Given the description of an element on the screen output the (x, y) to click on. 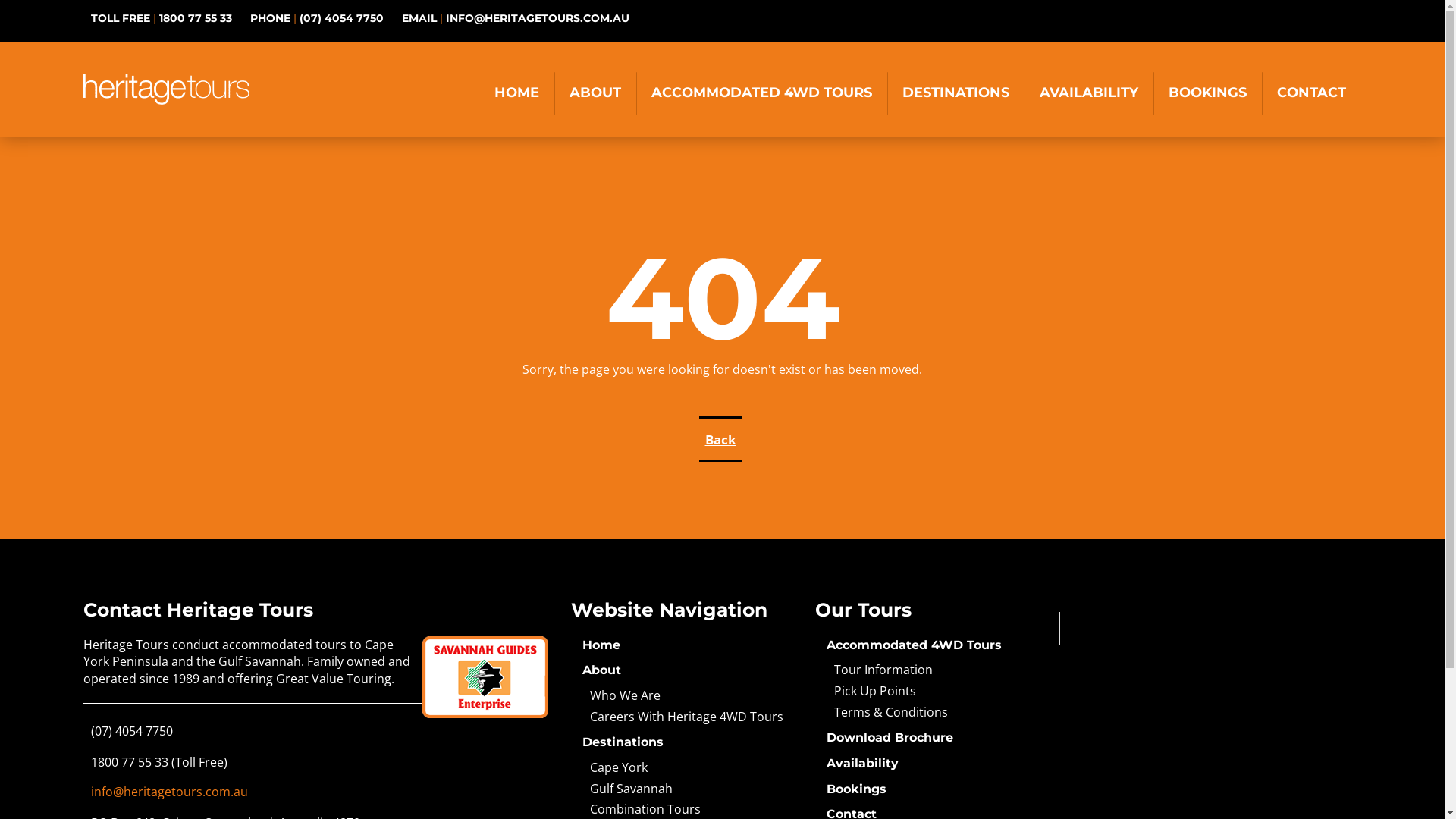
Availability Element type: text (862, 763)
Who We Are Element type: text (690, 695)
ACCOMMODATED 4WD TOURS Element type: text (761, 93)
Gulf Savannah Element type: text (690, 788)
HOME Element type: text (516, 93)
DESTINATIONS Element type: text (955, 93)
INFO@HERITAGETOURS.COM.AU Element type: text (537, 18)
Terms & Conditions Element type: text (934, 712)
About Element type: text (601, 669)
Accommodated 4WD Tours Element type: text (913, 644)
AVAILABILITY Element type: text (1088, 93)
info@heritagetours.com.au Element type: text (169, 791)
ABOUT Element type: text (595, 93)
Home Element type: text (601, 644)
Pick Up Points Element type: text (934, 690)
Tour Information Element type: text (934, 669)
Combination Tours Element type: text (690, 809)
heritagetourscairns Element type: text (1132, 627)
Back Element type: text (720, 438)
CONTACT Element type: text (1311, 93)
Download Brochure Element type: text (889, 737)
Careers With Heritage 4WD Tours Element type: text (690, 716)
Cape York Element type: text (690, 767)
Destinations Element type: text (622, 741)
BOOKINGS Element type: text (1207, 93)
Bookings Element type: text (856, 788)
